Given the description of an element on the screen output the (x, y) to click on. 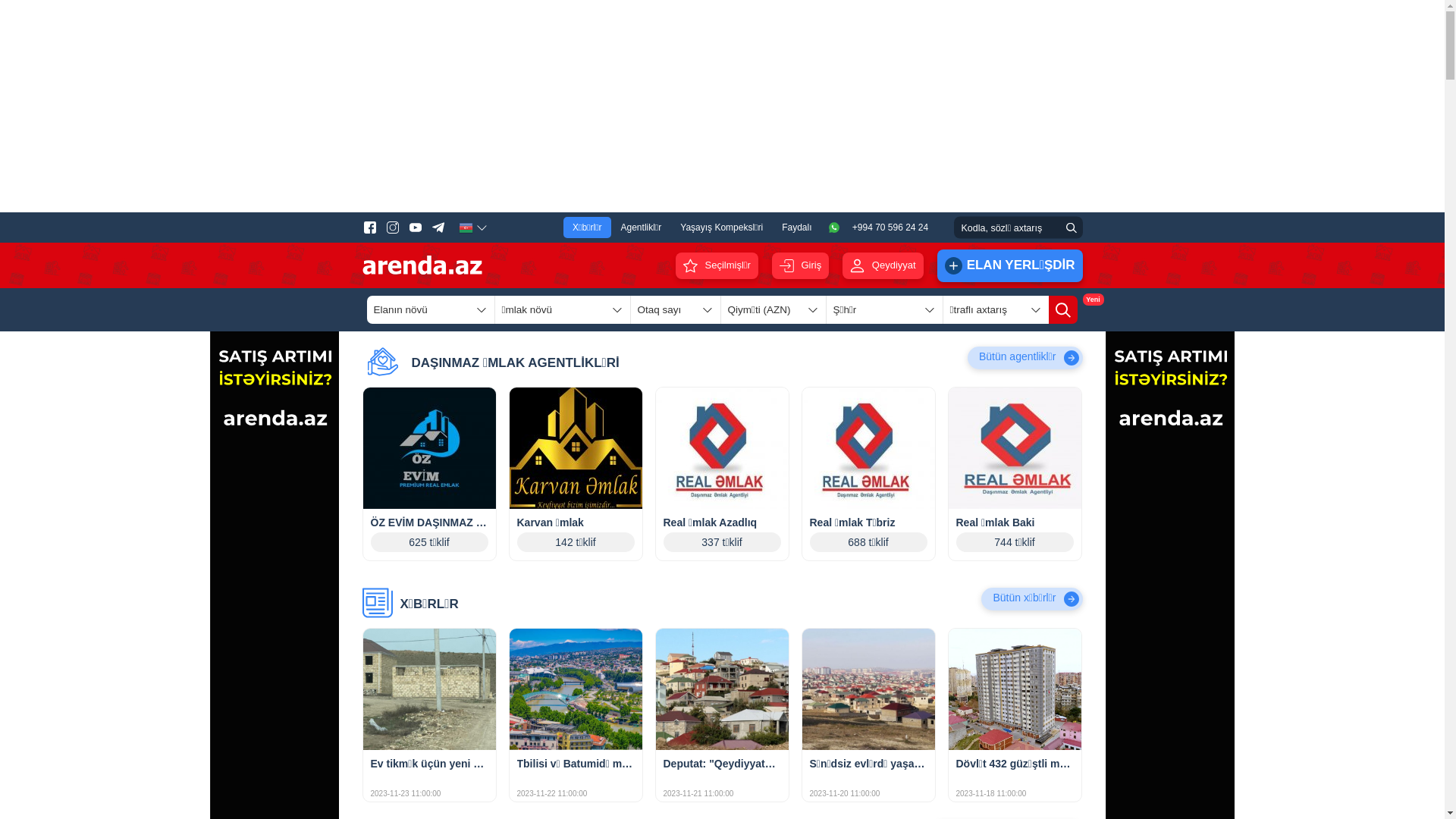
Advertisement Element type: hover (721, 106)
Qeydiyyat Element type: text (882, 264)
+994 70 596 24 24 Element type: text (881, 227)
Arenda.az Kiraye evler ve Evlerin alqi-satqisi Element type: hover (422, 265)
